Given the description of an element on the screen output the (x, y) to click on. 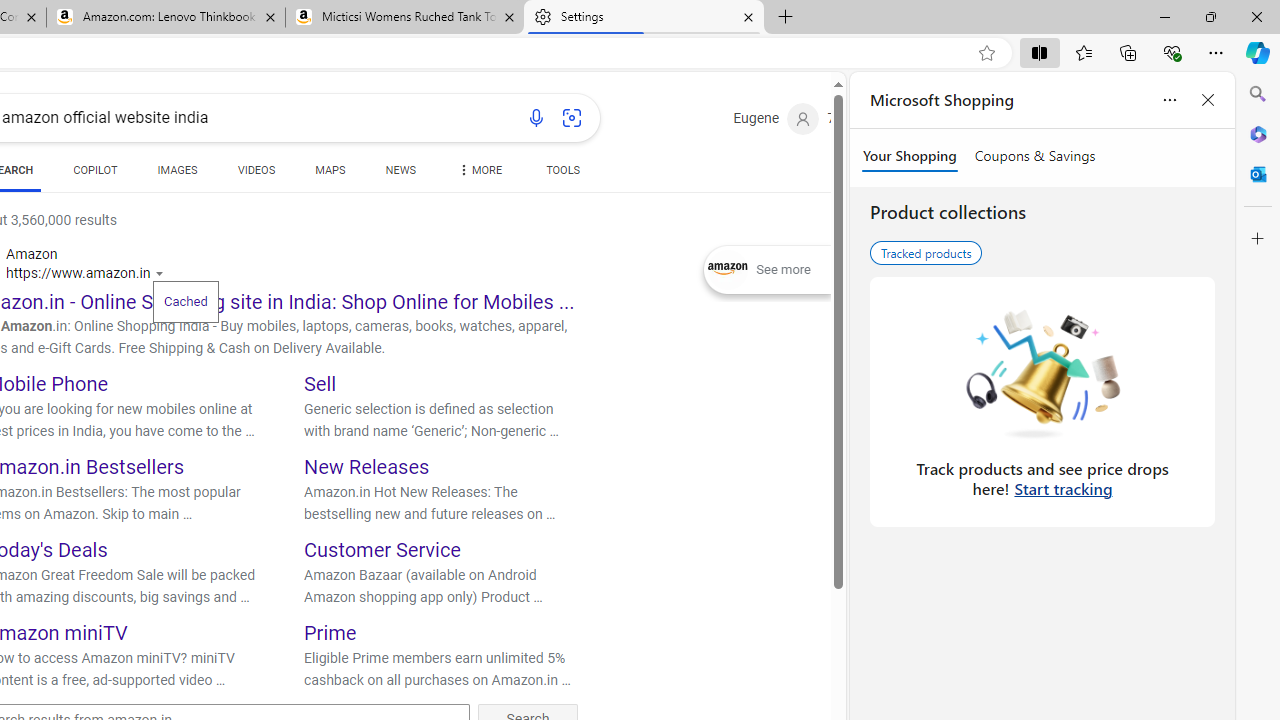
New Releases (367, 466)
TOOLS (562, 170)
Prime (330, 632)
TOOLS (562, 173)
Customer Service (382, 549)
